Given the description of an element on the screen output the (x, y) to click on. 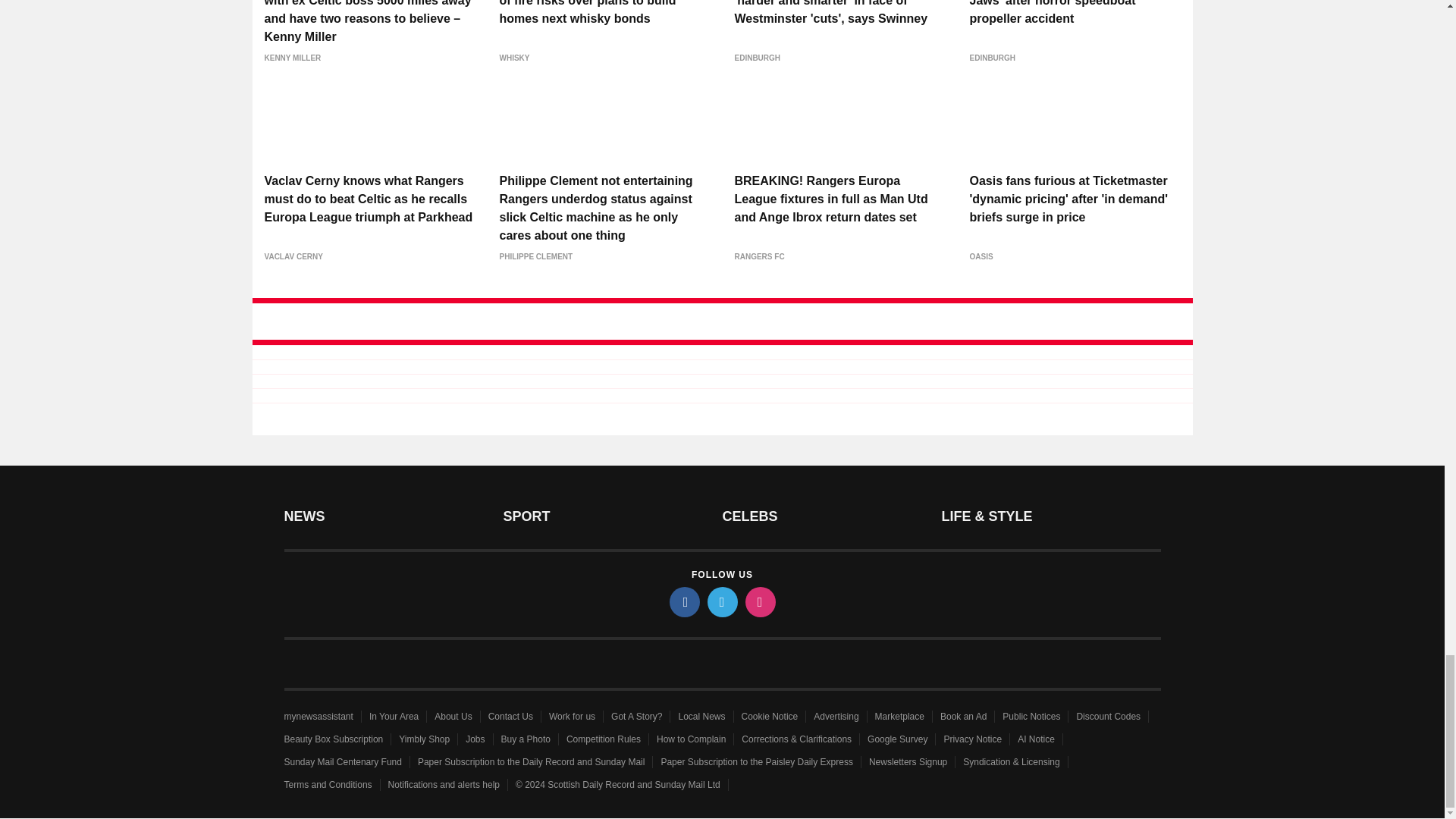
instagram (759, 602)
facebook (683, 602)
twitter (721, 602)
